Given the description of an element on the screen output the (x, y) to click on. 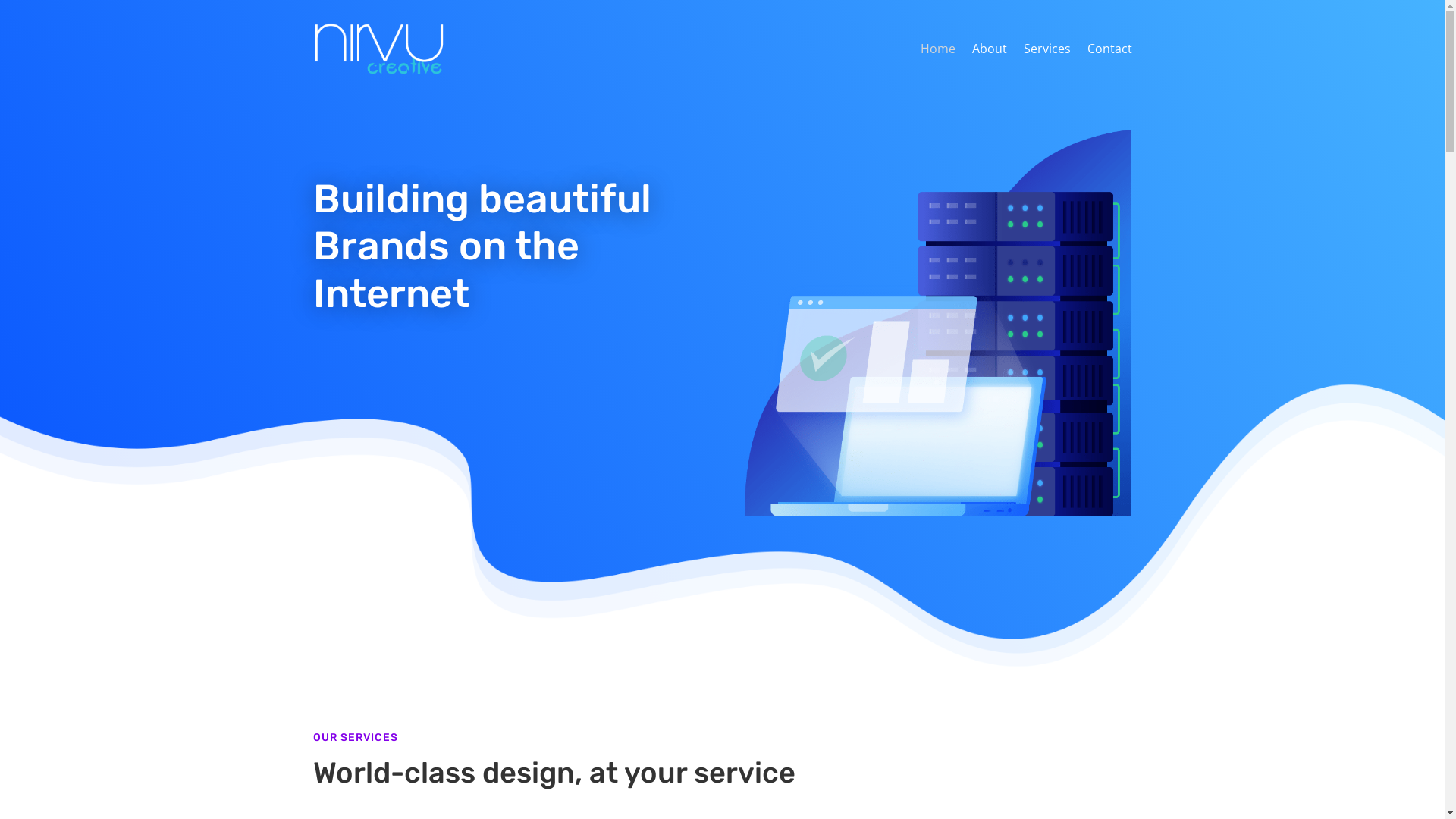
Home Element type: text (937, 48)
About Element type: text (989, 48)
Services Element type: text (1046, 48)
Contact Element type: text (1109, 48)
